Given the description of an element on the screen output the (x, y) to click on. 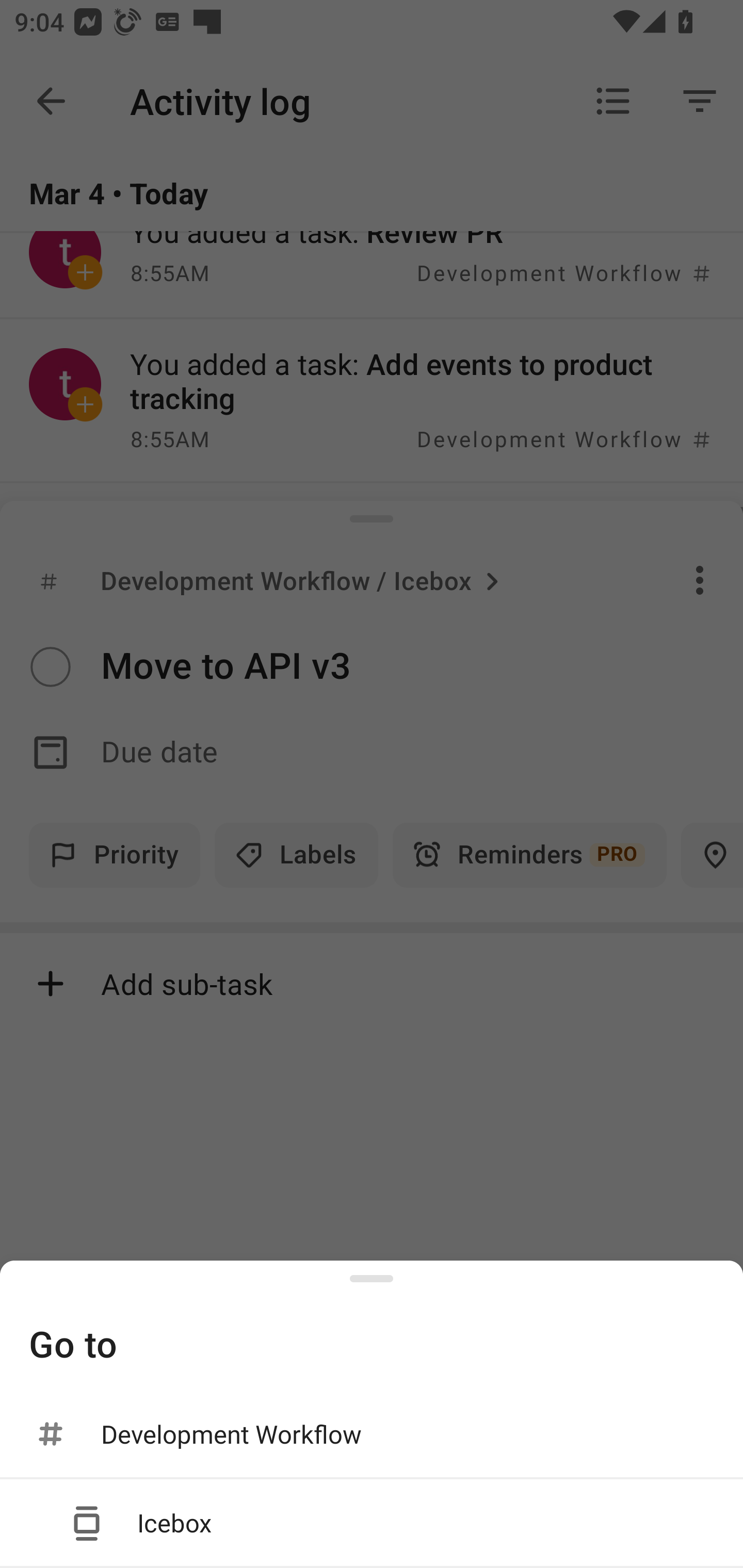
Development Workflow (371, 1433)
Icebox (371, 1522)
